Given the description of an element on the screen output the (x, y) to click on. 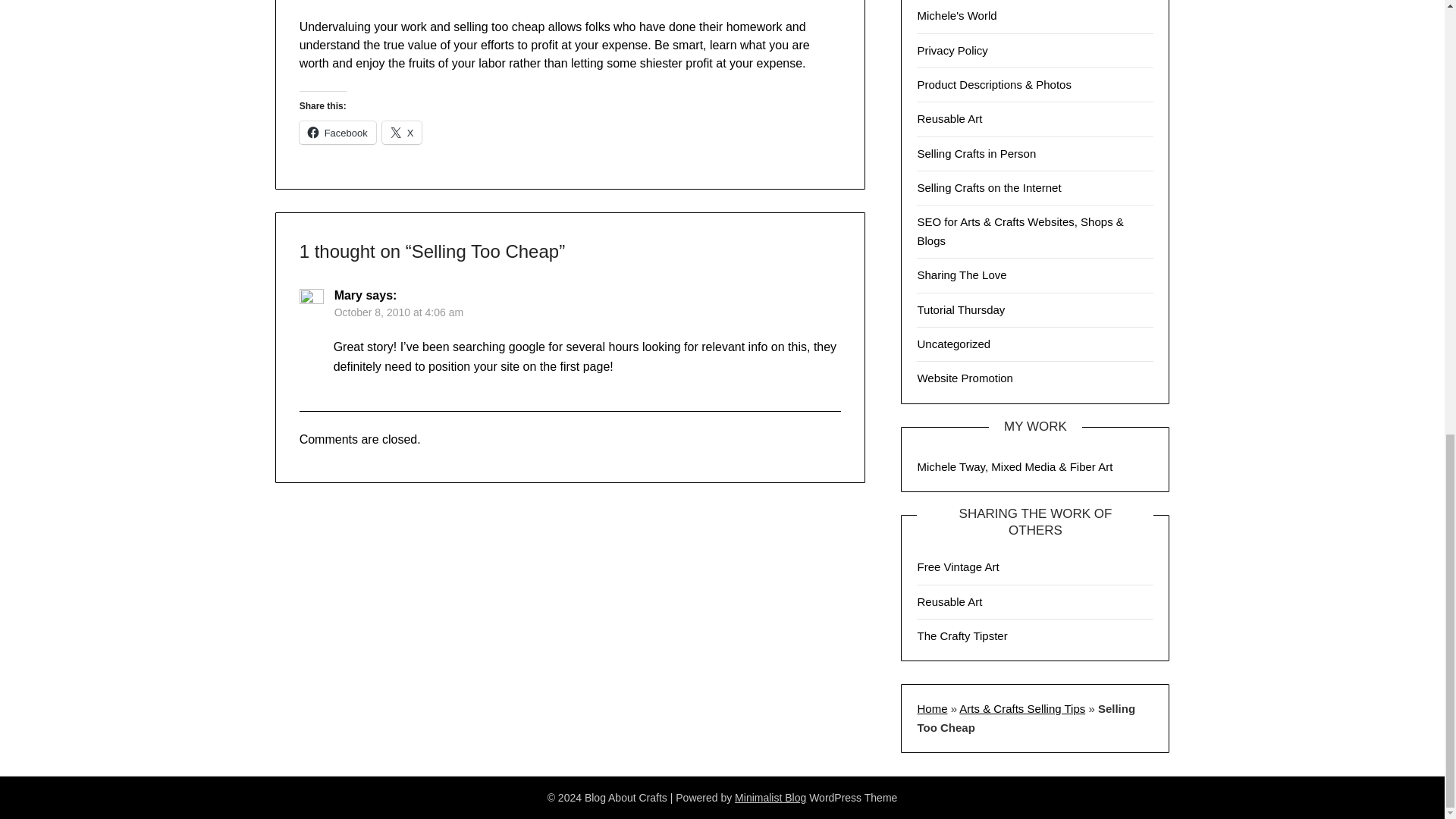
Privacy Policy (952, 49)
Selling Crafts in Person (976, 153)
Uncategorized (953, 343)
Free Craft Projects and Ideas (962, 635)
Website Promotion (964, 377)
Selling Crafts on the Internet (989, 187)
Free vintage, public domain images for crafters. (957, 566)
Click to share on Facebook (337, 132)
Click to share on X (401, 132)
